Given the description of an element on the screen output the (x, y) to click on. 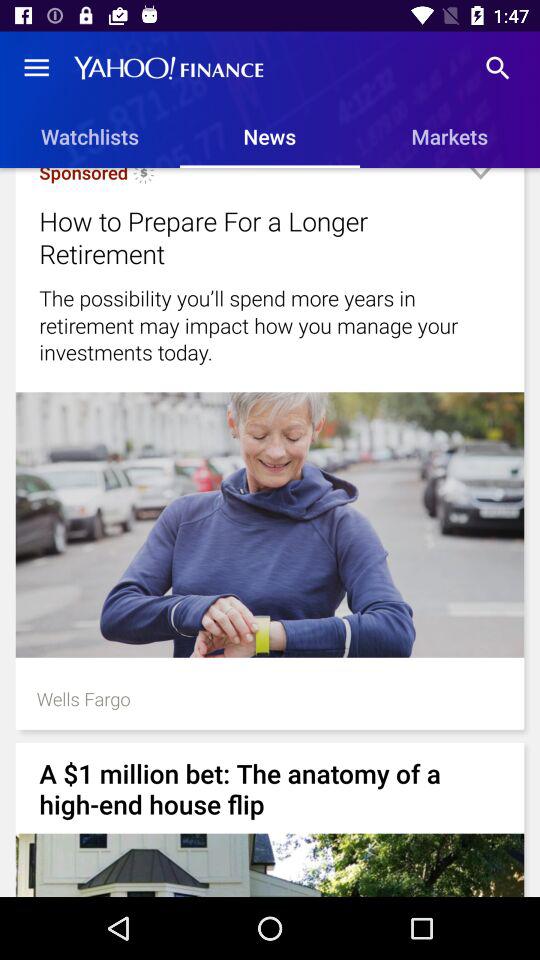
choose item at the bottom left corner (83, 698)
